Given the description of an element on the screen output the (x, y) to click on. 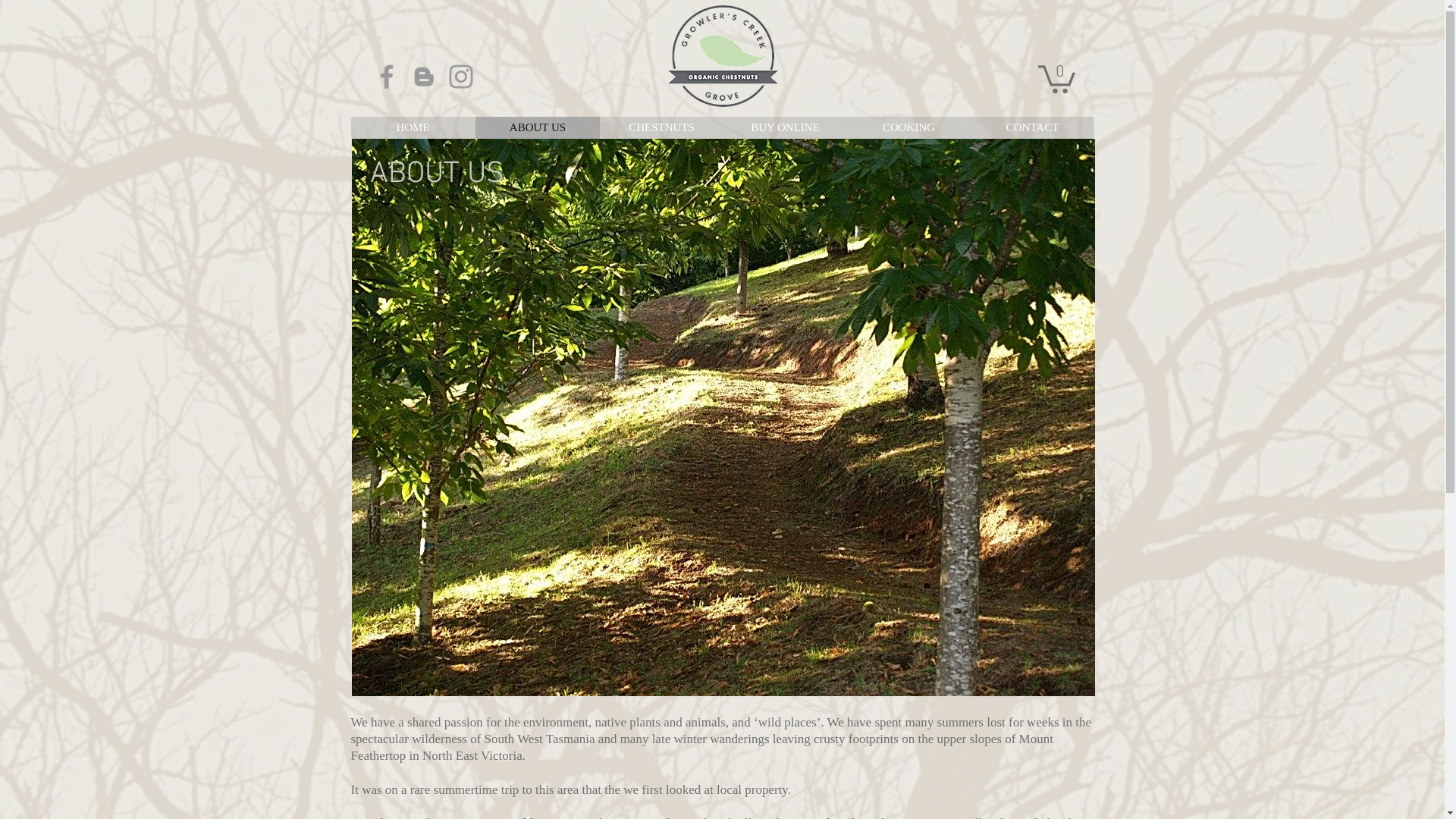
CHESTNUTS Element type: text (660, 127)
HOME Element type: text (412, 127)
CONTACT Element type: text (1032, 127)
ABOUT US Element type: text (536, 127)
Track through the grove Element type: hover (723, 417)
0 Element type: text (1055, 77)
BUY ONLINE Element type: text (785, 127)
COOKING Element type: text (907, 127)
